Given the description of an element on the screen output the (x, y) to click on. 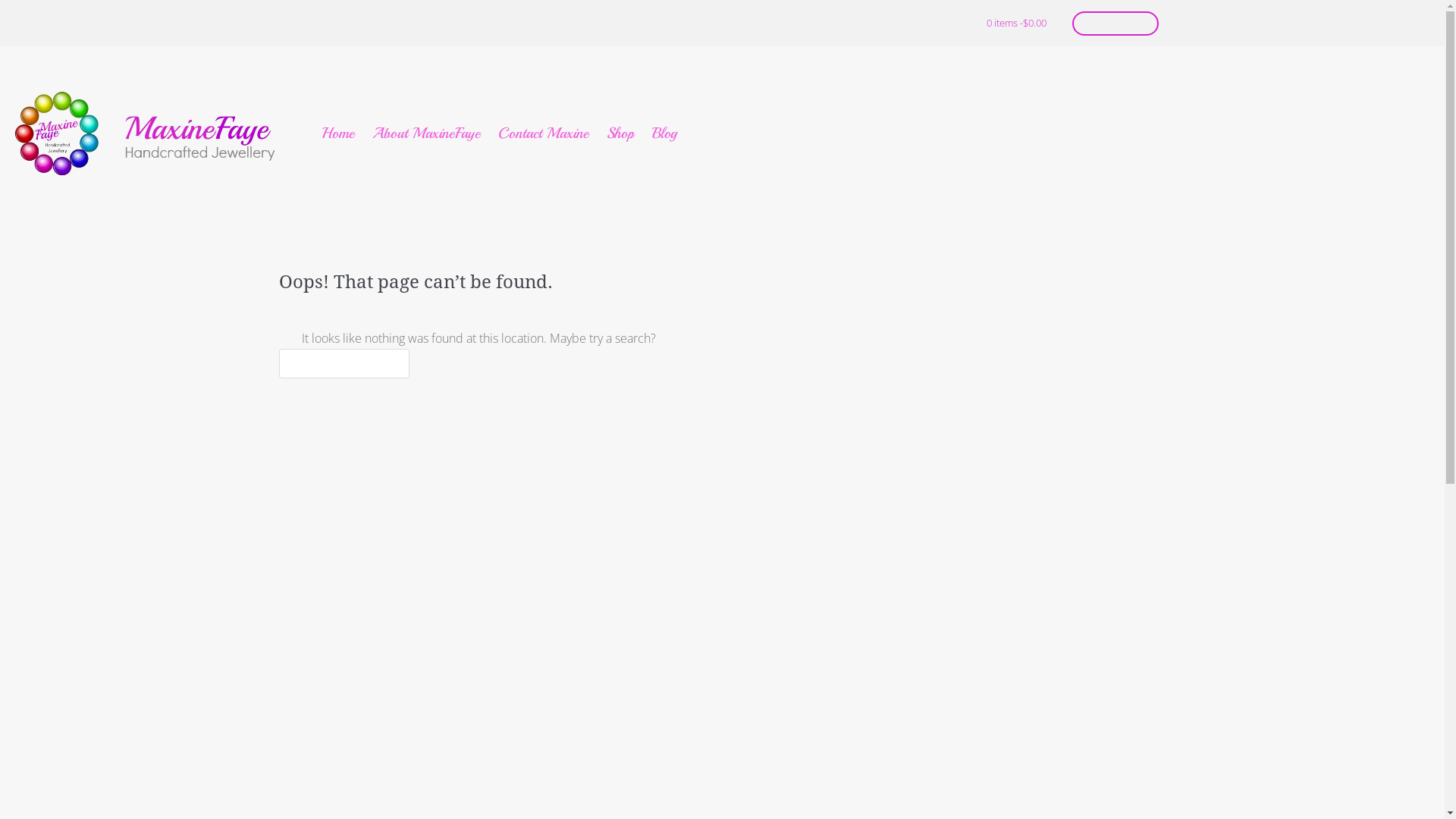
Home Element type: text (337, 133)
Blog Element type: text (664, 133)
About MaxineFaye Element type: text (425, 133)
Search Element type: text (32, 15)
Shop Element type: text (620, 133)
Search for: Element type: hover (344, 363)
Search for: Element type: hover (1115, 23)
Contact Maxine Element type: text (543, 133)
0 items -
$
0.00 Element type: text (1015, 22)
